Given the description of an element on the screen output the (x, y) to click on. 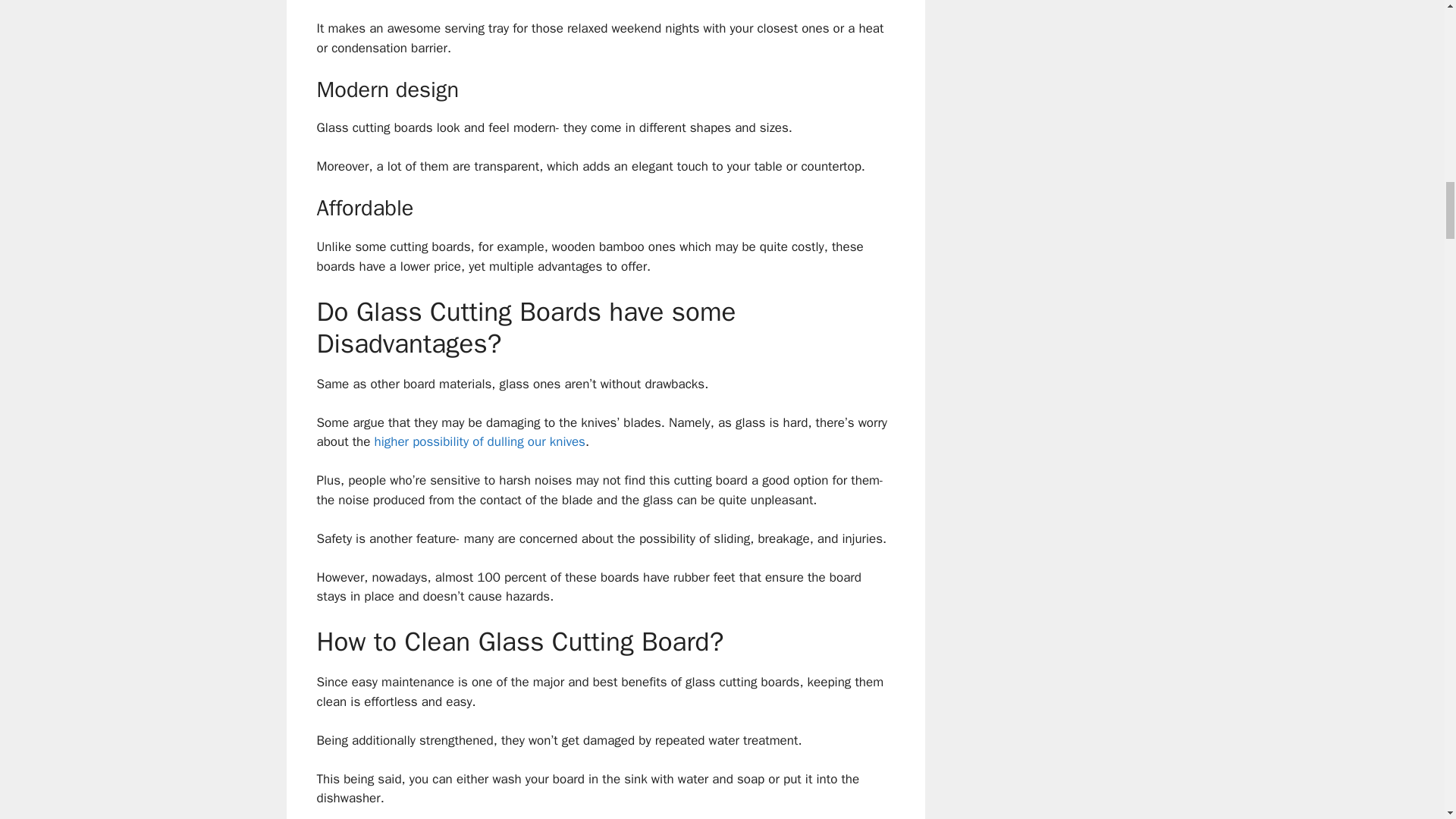
higher possibility of dulling our knives (479, 441)
